Given the description of an element on the screen output the (x, y) to click on. 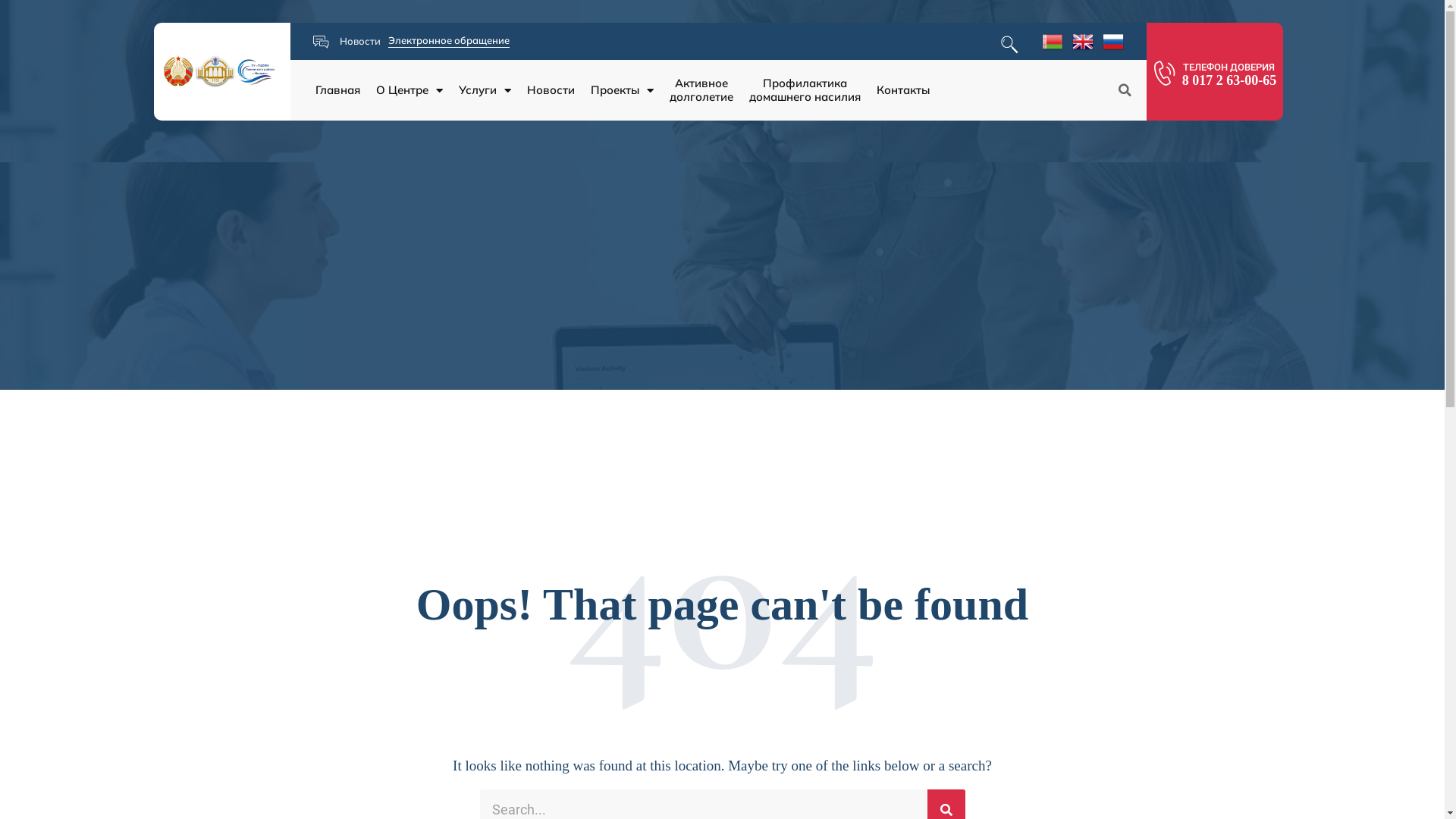
Belarusian Element type: hover (1052, 40)
Russian Element type: hover (1112, 40)
English Element type: hover (1082, 40)
